Given the description of an element on the screen output the (x, y) to click on. 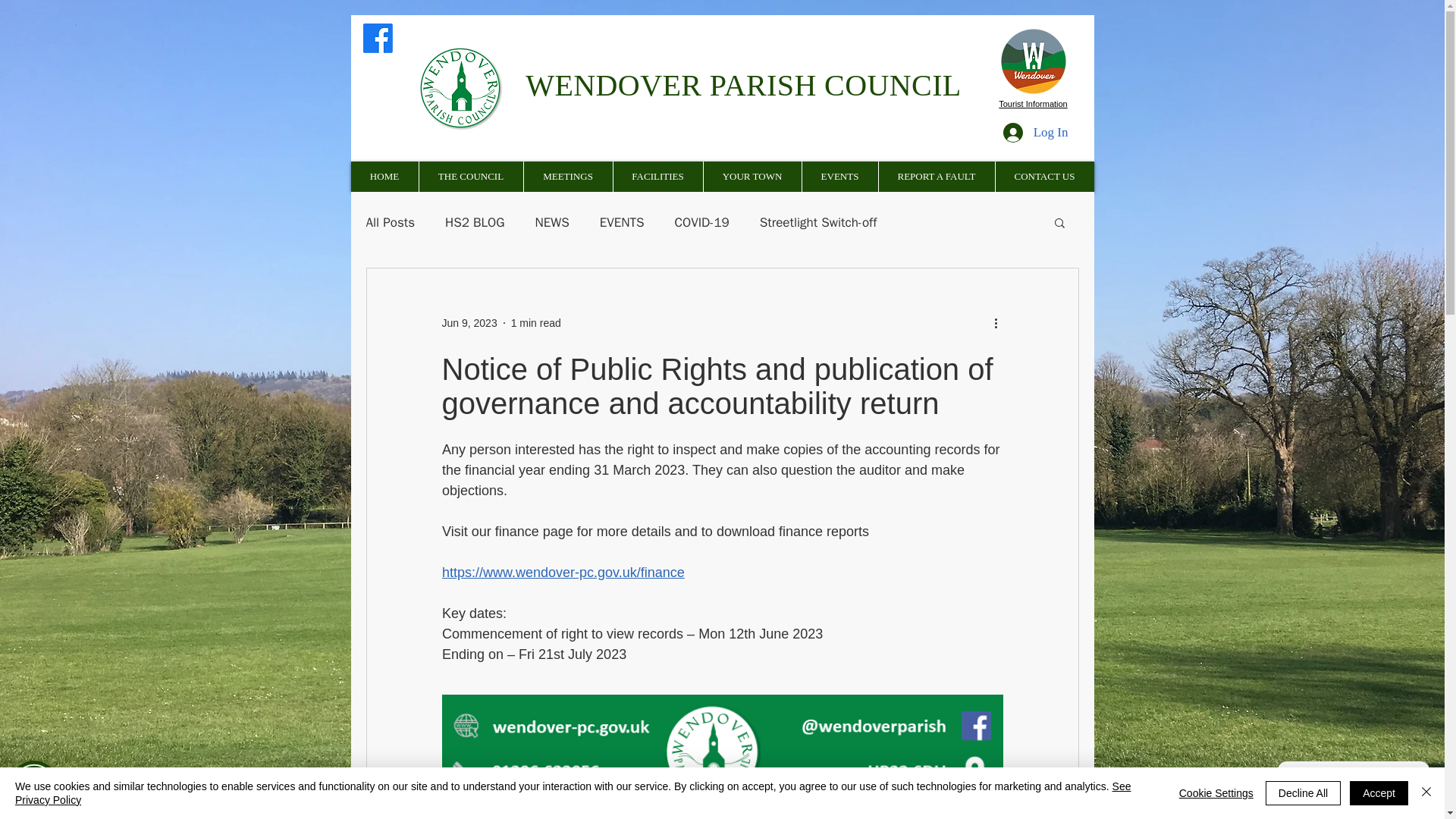
Log In (1035, 132)
Tourist Information (1032, 103)
Accessibility Menu (34, 784)
Jun 9, 2023 (468, 322)
HOME (383, 176)
1 min read (535, 322)
